Given the description of an element on the screen output the (x, y) to click on. 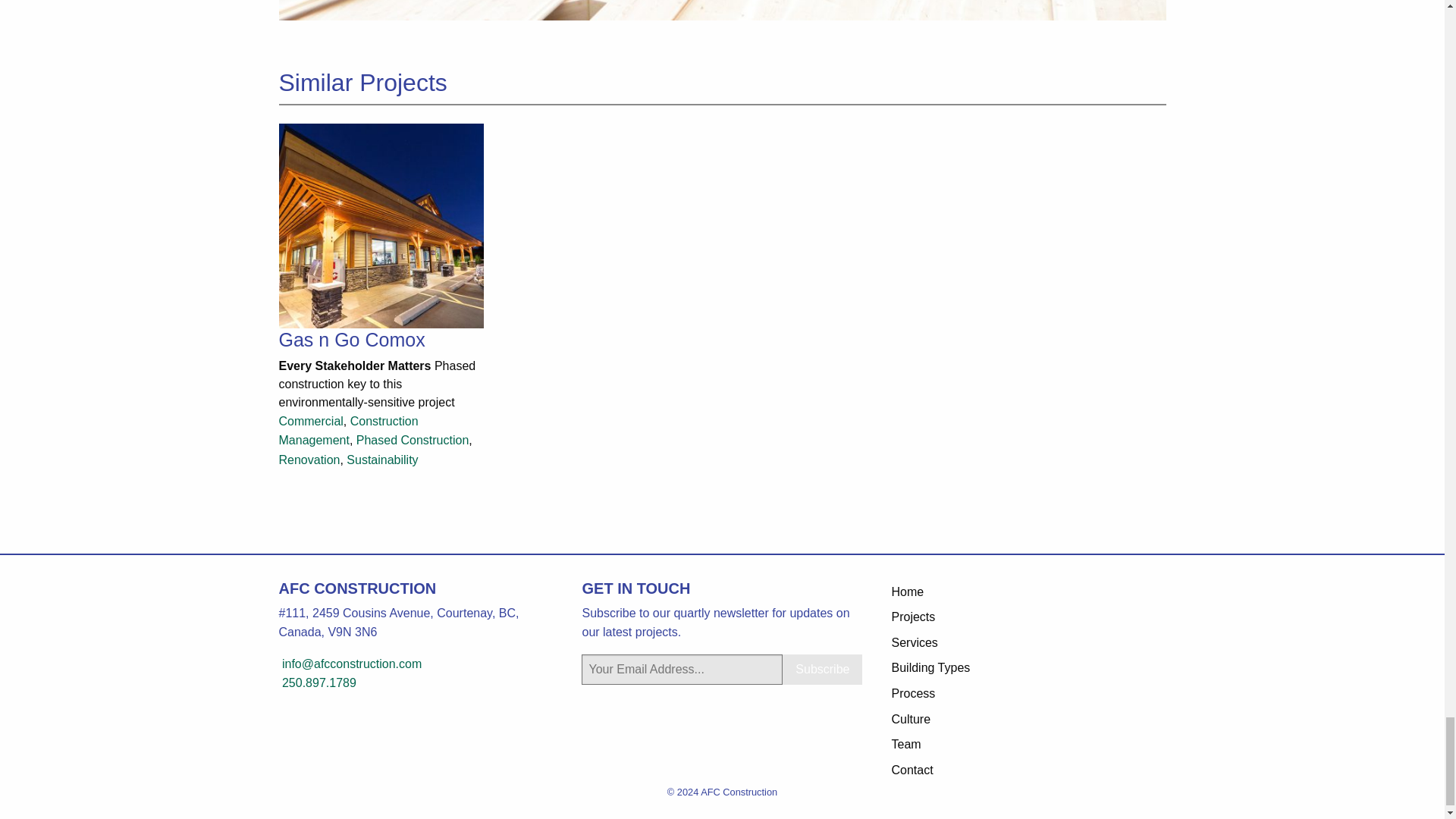
Sustainability (381, 459)
 250.897.1789 (317, 682)
Give Us A Call (317, 682)
Phased Construction (412, 440)
Gas n Go Comox (381, 284)
Construction Management (349, 430)
Commercial (311, 420)
Subscribe (822, 669)
Subscribe (822, 669)
Renovation (309, 459)
Send Us An Email (350, 663)
Newsletter Sign Up (681, 669)
